Given the description of an element on the screen output the (x, y) to click on. 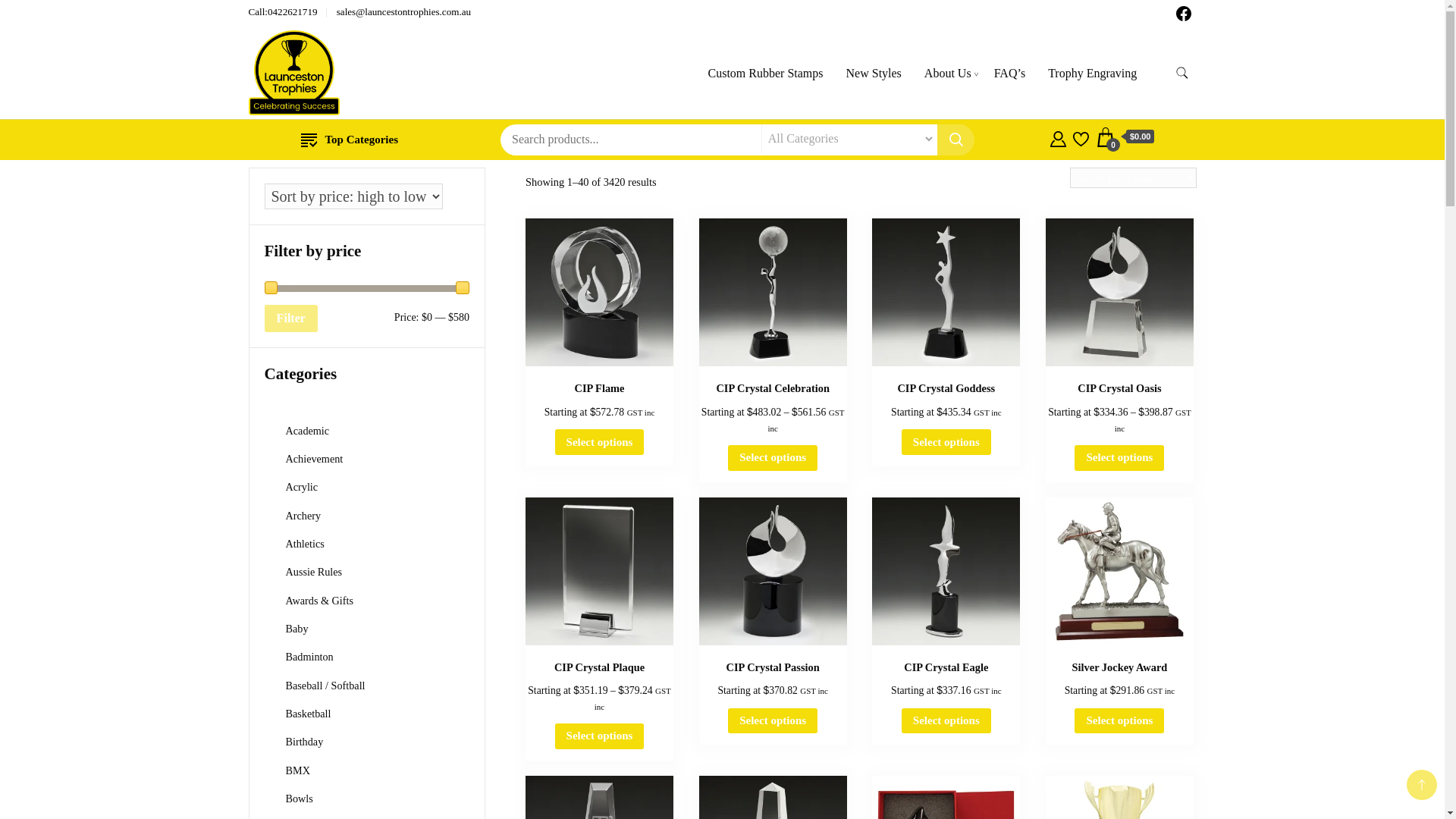
Trophy Engraving (1092, 73)
New Styles (873, 73)
Custom Rubber Stamps (764, 73)
Products in Wishlist (1081, 136)
My Account (1057, 136)
Top Categories (349, 139)
About Us (947, 73)
Cart (1125, 137)
